Given the description of an element on the screen output the (x, y) to click on. 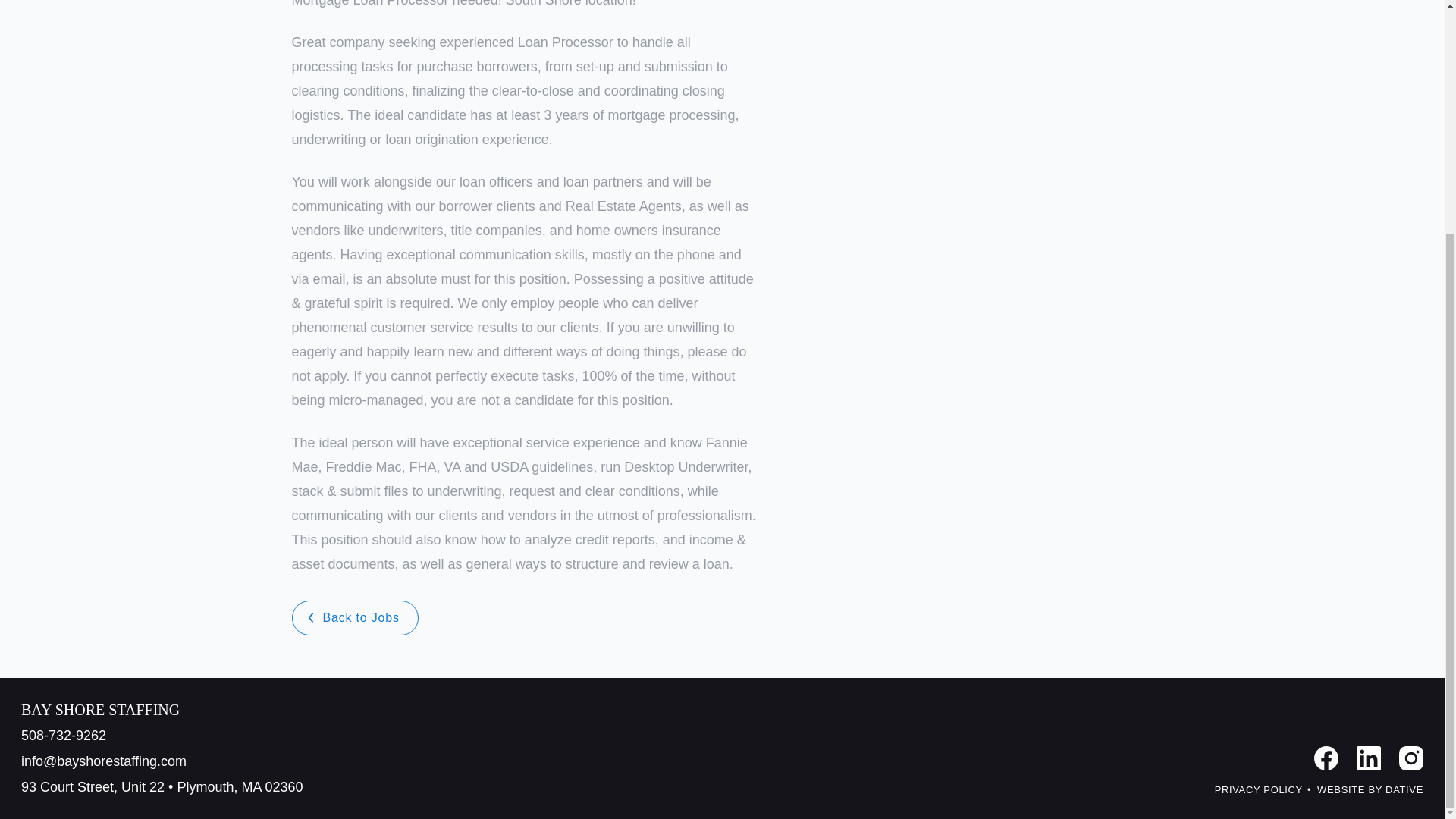
Facebook (1326, 758)
PRIVACY POLICY (1258, 789)
Back to Jobs (354, 617)
508-732-9262 (161, 735)
BAY SHORE STAFFING (161, 709)
Instagram (1411, 758)
WEBSITE BY DATIVE (1370, 789)
Linkedin (1368, 758)
